Given the description of an element on the screen output the (x, y) to click on. 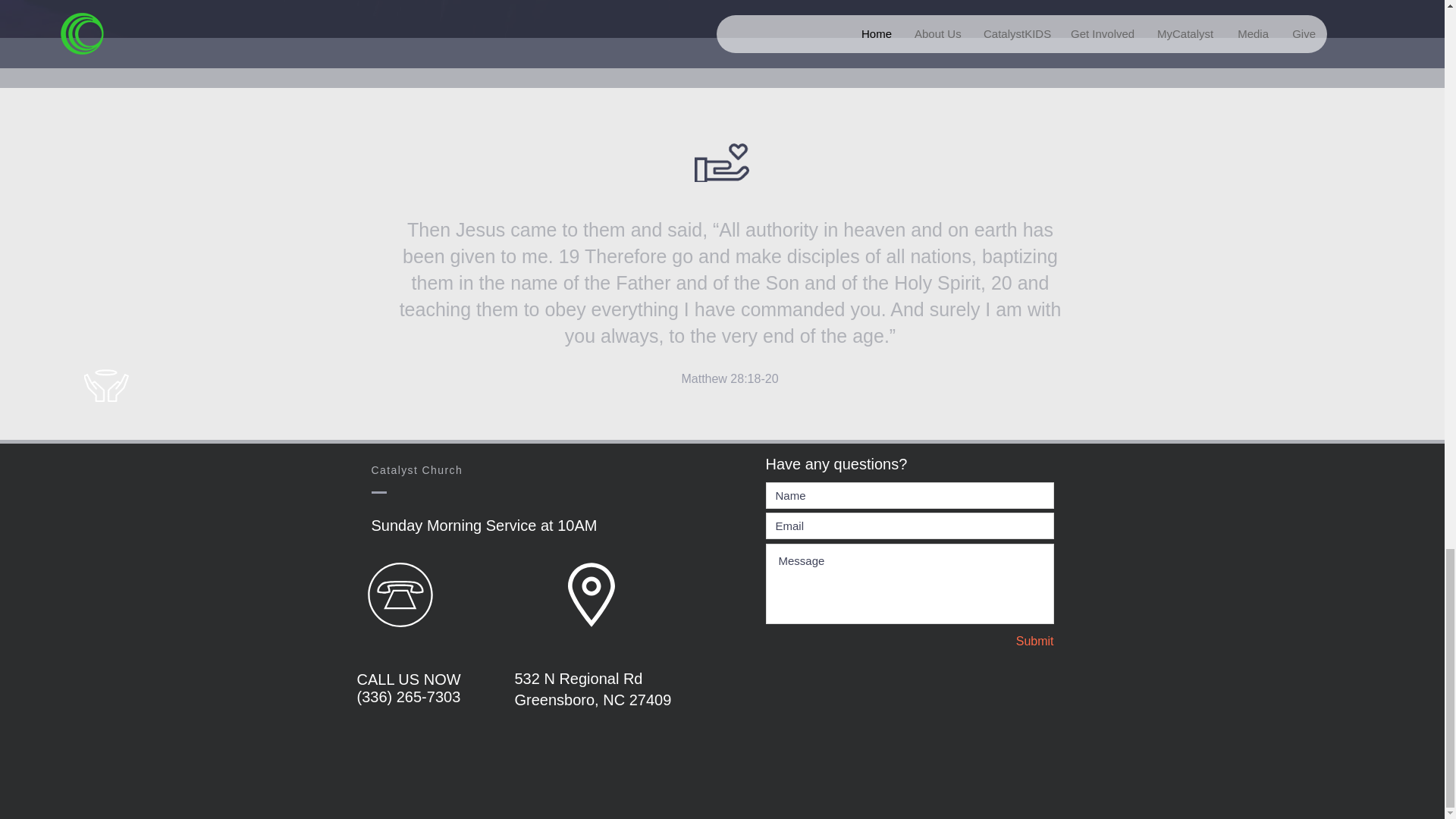
Submit (1000, 641)
